Given the description of an element on the screen output the (x, y) to click on. 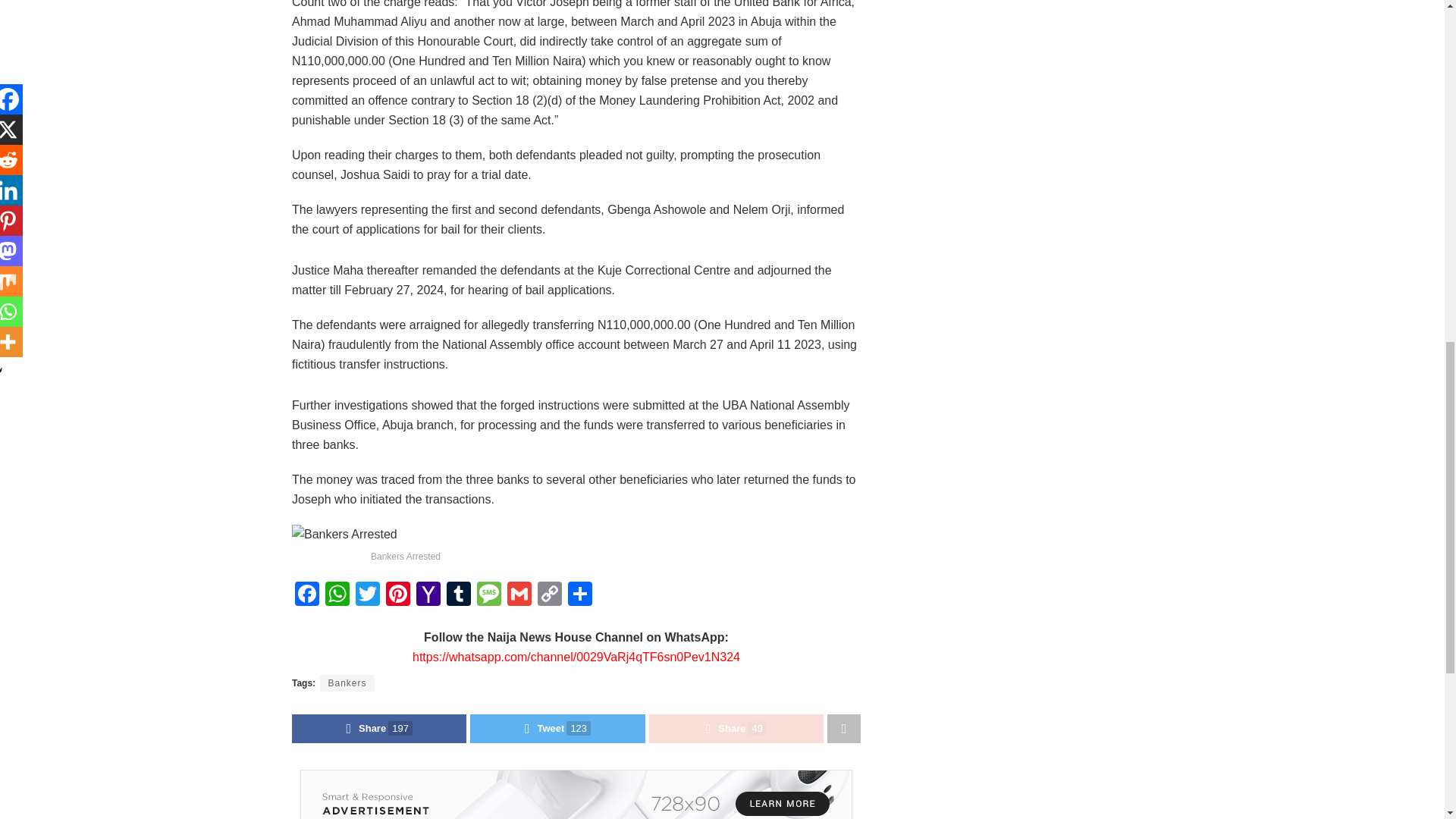
Facebook (306, 595)
Twitter (367, 595)
Pinterest (397, 595)
WhatsApp (336, 595)
